Given the description of an element on the screen output the (x, y) to click on. 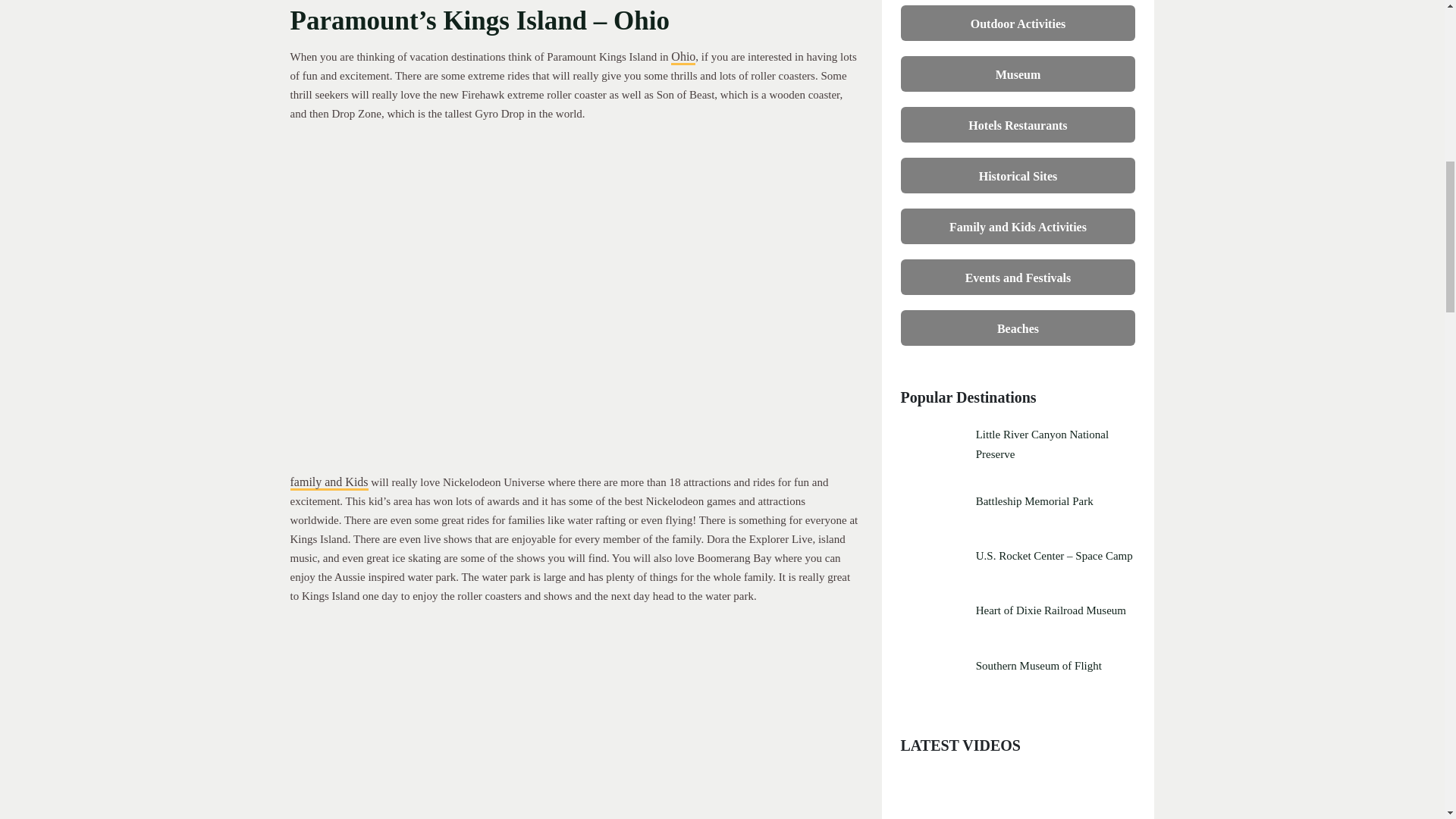
Battleship Memorial Park (1055, 501)
Little River Canyon National Preserve (1055, 444)
YouTube video player (1018, 796)
Hotels Restaurants (1018, 123)
Historical Sites (1018, 174)
Ohio (683, 57)
Family and Kids Activities (1018, 225)
Beaches (1018, 327)
Events and Festivals (1018, 276)
Outdoor Activities (1018, 21)
family and Kids (328, 482)
Museum (1018, 72)
